Given the description of an element on the screen output the (x, y) to click on. 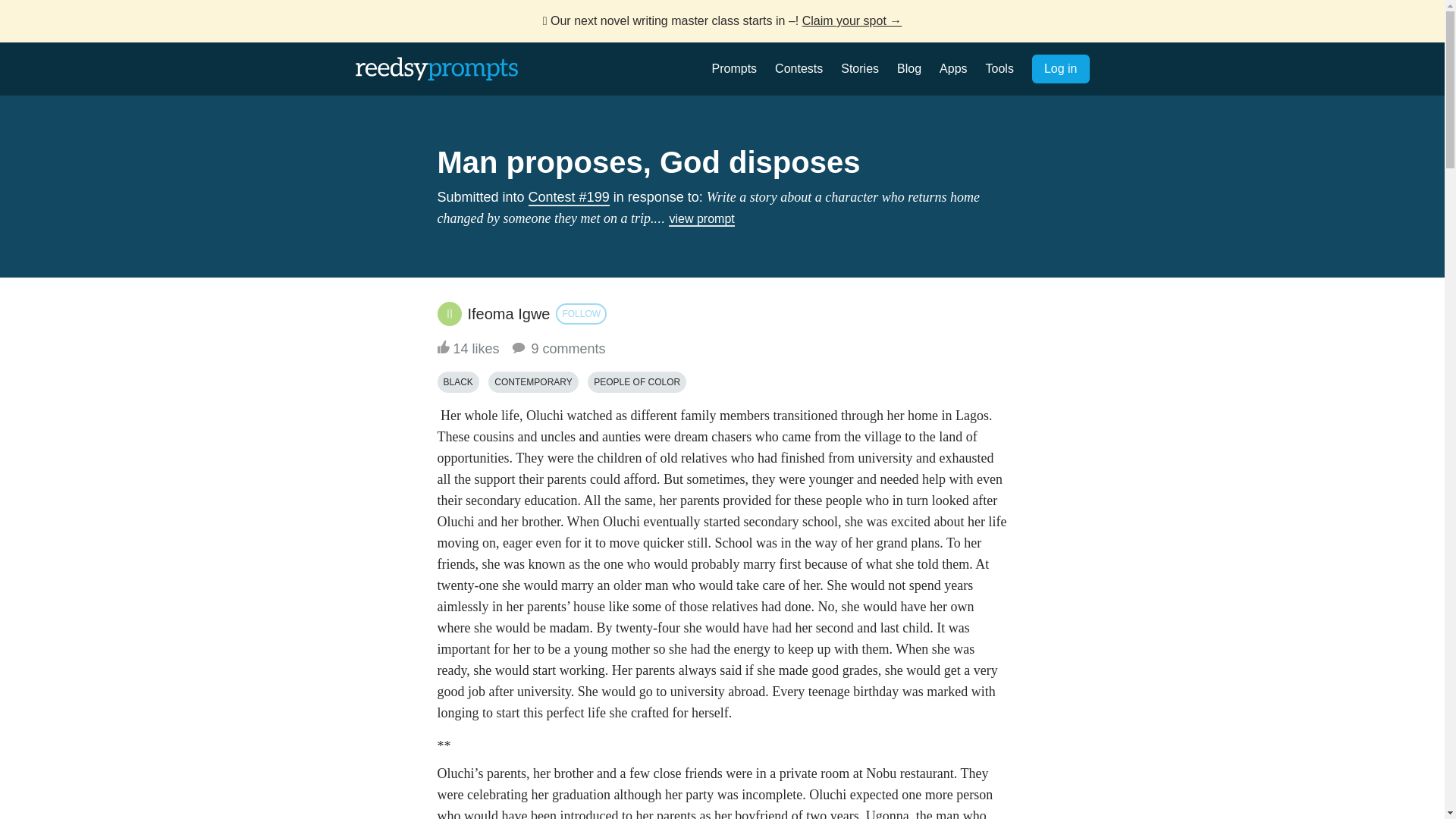
Prompts (734, 68)
Contests (798, 68)
Stories (860, 68)
Tools (999, 68)
9 comments (557, 348)
Apps (952, 68)
Blog (908, 68)
Log in (1060, 68)
